Given the description of an element on the screen output the (x, y) to click on. 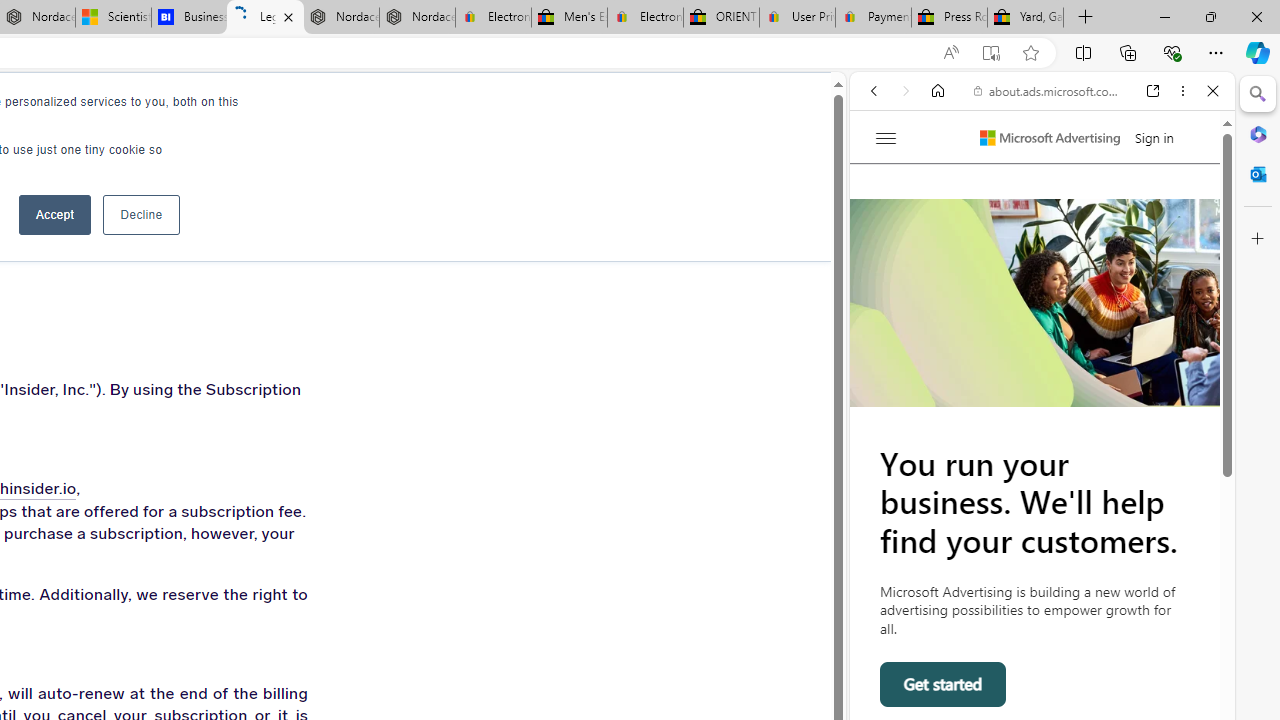
Get started (943, 683)
Minimize Search pane (1258, 94)
